Given the description of an element on the screen output the (x, y) to click on. 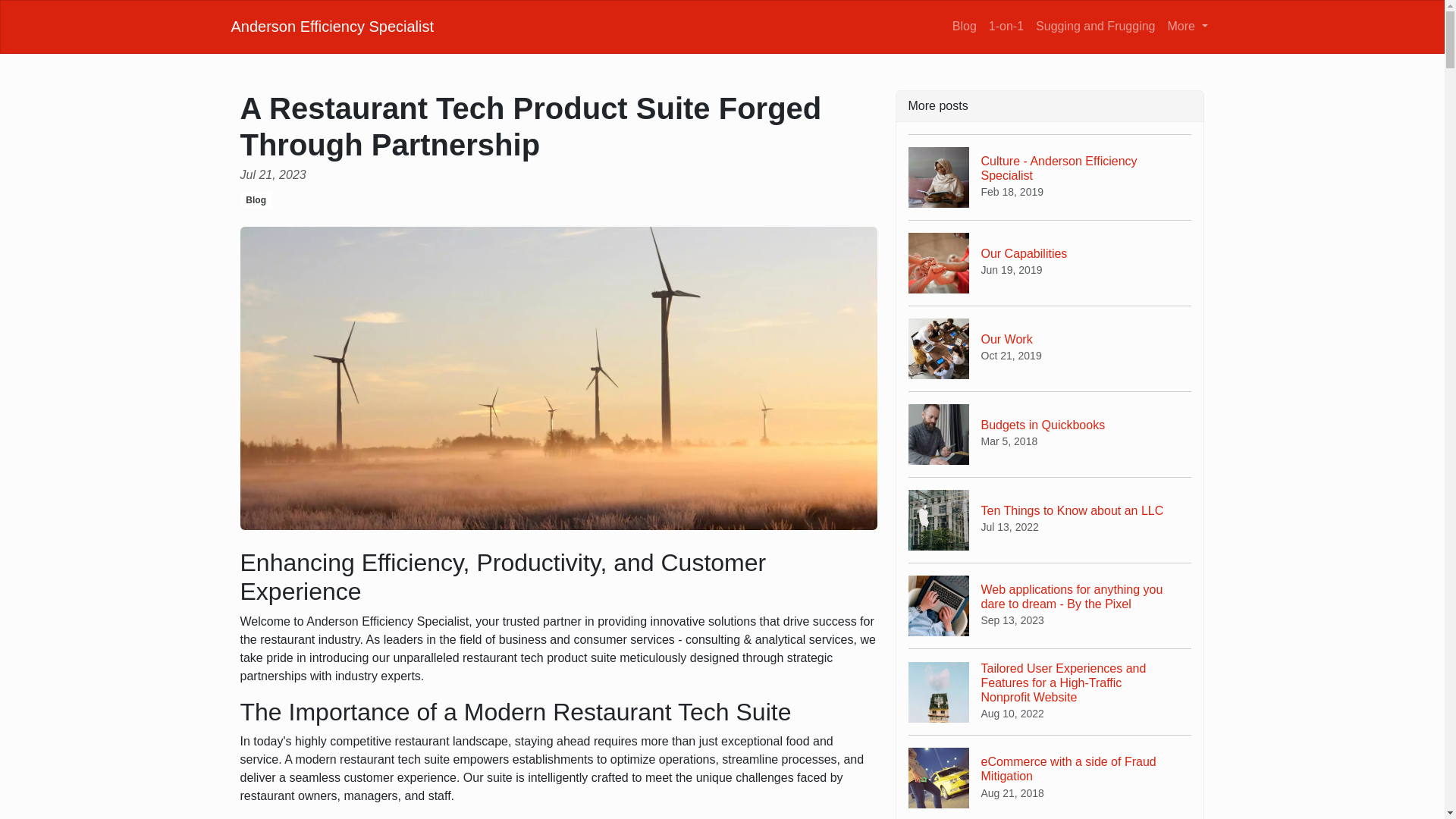
Blog (964, 26)
Anderson Efficiency Specialist (1050, 262)
1-on-1 (331, 26)
More (1050, 776)
Blog (1005, 26)
Sugging and Frugging (1187, 26)
